Given the description of an element on the screen output the (x, y) to click on. 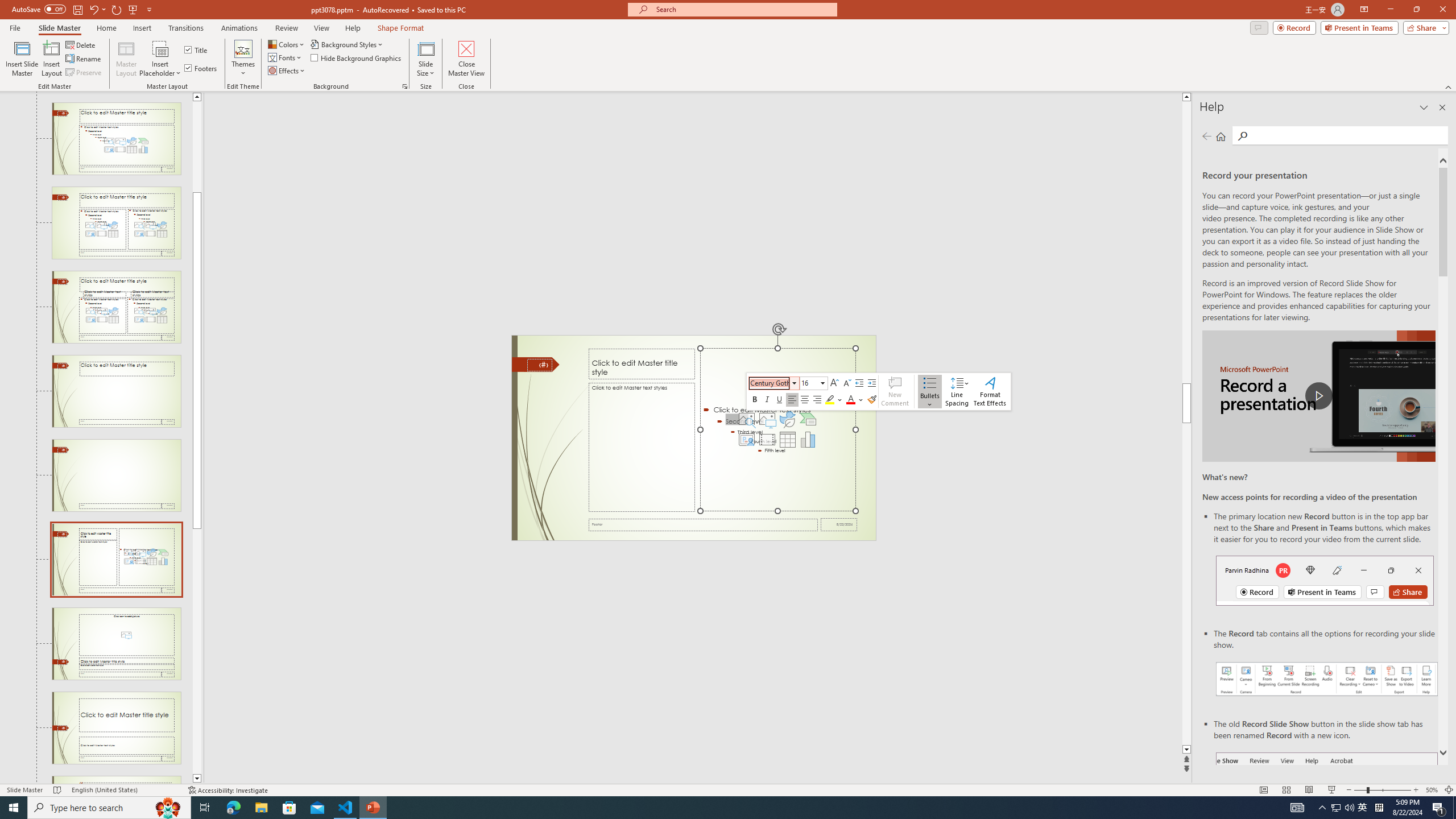
Class: Net UI Tool Window (878, 391)
